Given the description of an element on the screen output the (x, y) to click on. 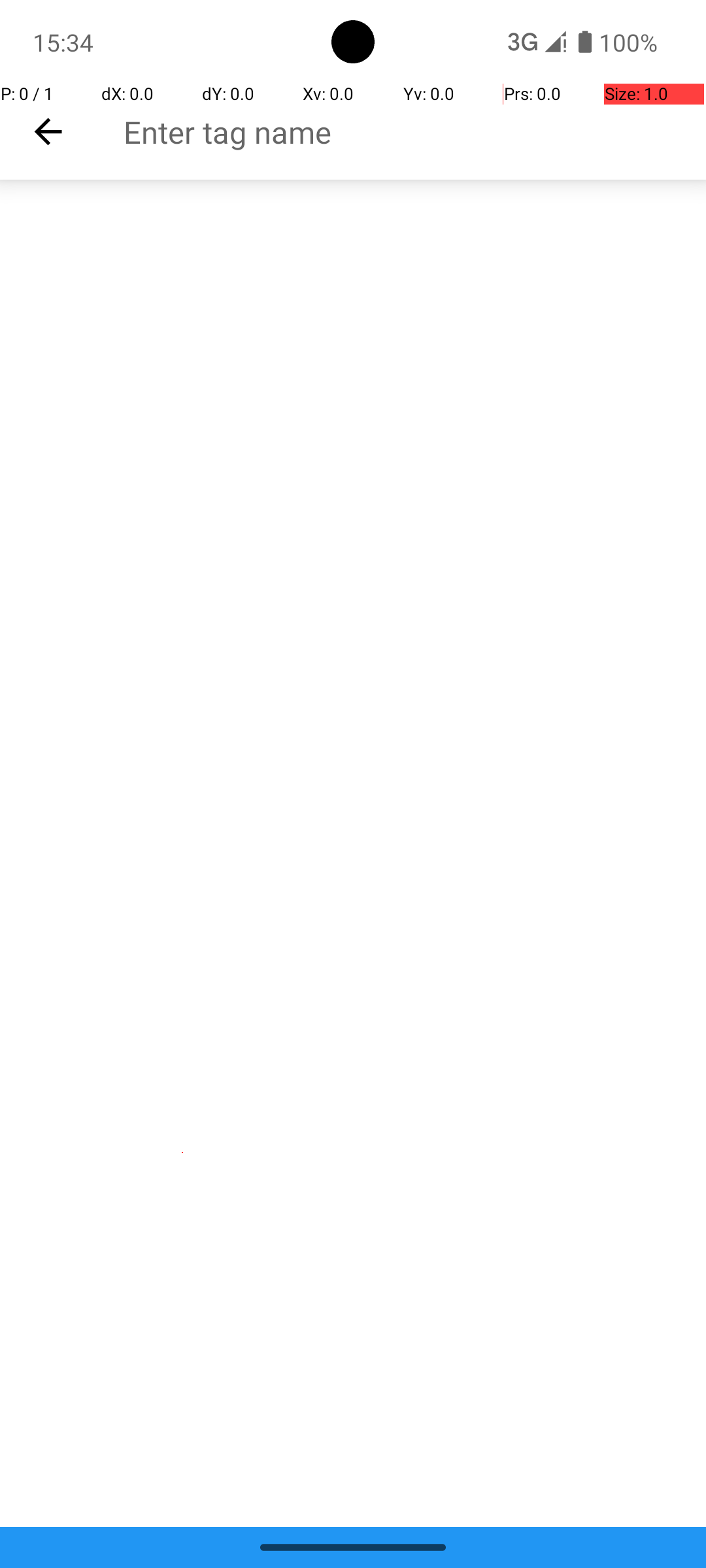
Enter tag name Element type: android.widget.EditText (414, 131)
